Given the description of an element on the screen output the (x, y) to click on. 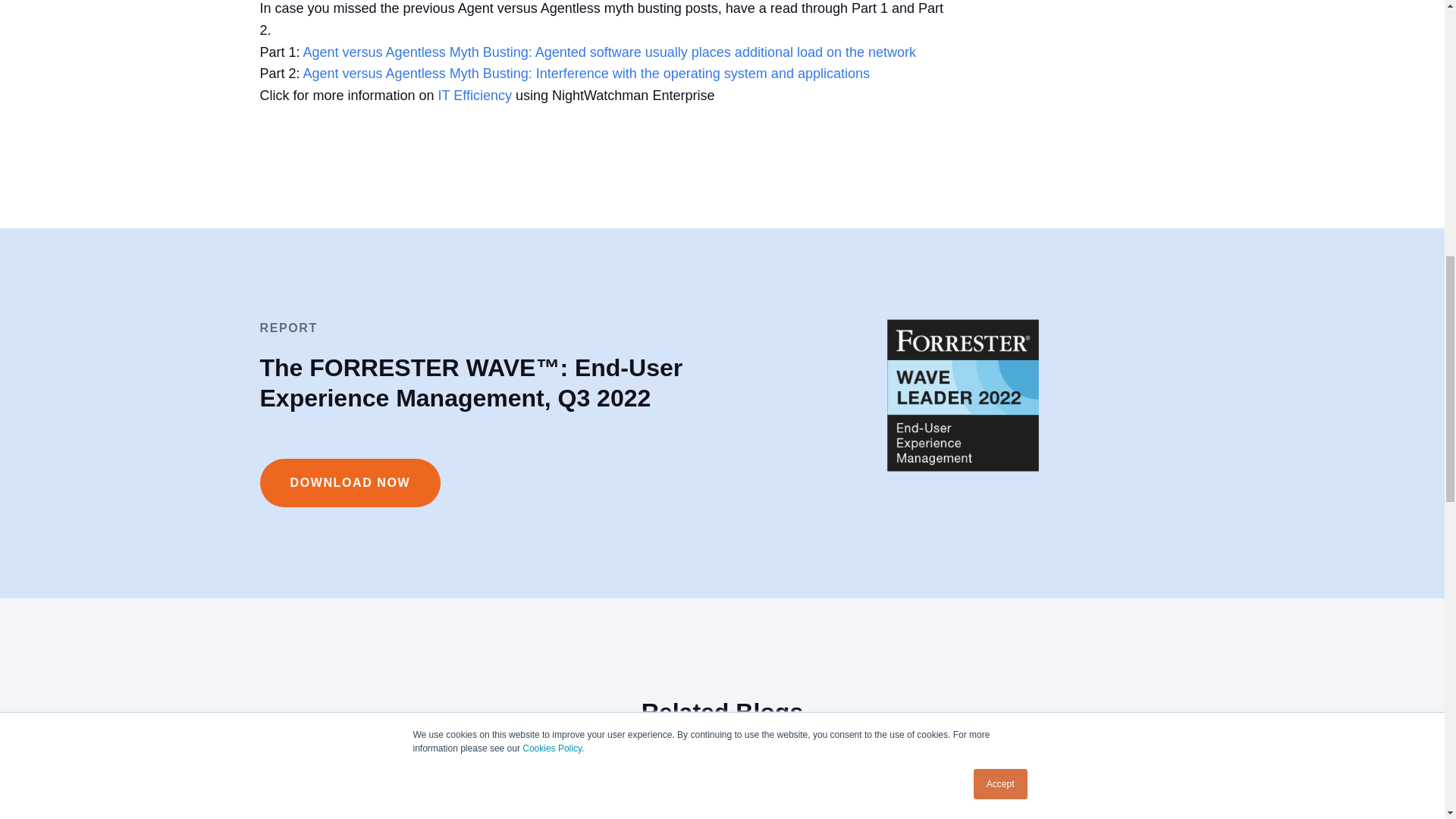
Laura Smith CPO (400, 782)
Generic Blog Image-31 (1042, 782)
NightWatchman Enterprise  (475, 95)
Blue Screen of Death (721, 782)
